Given the description of an element on the screen output the (x, y) to click on. 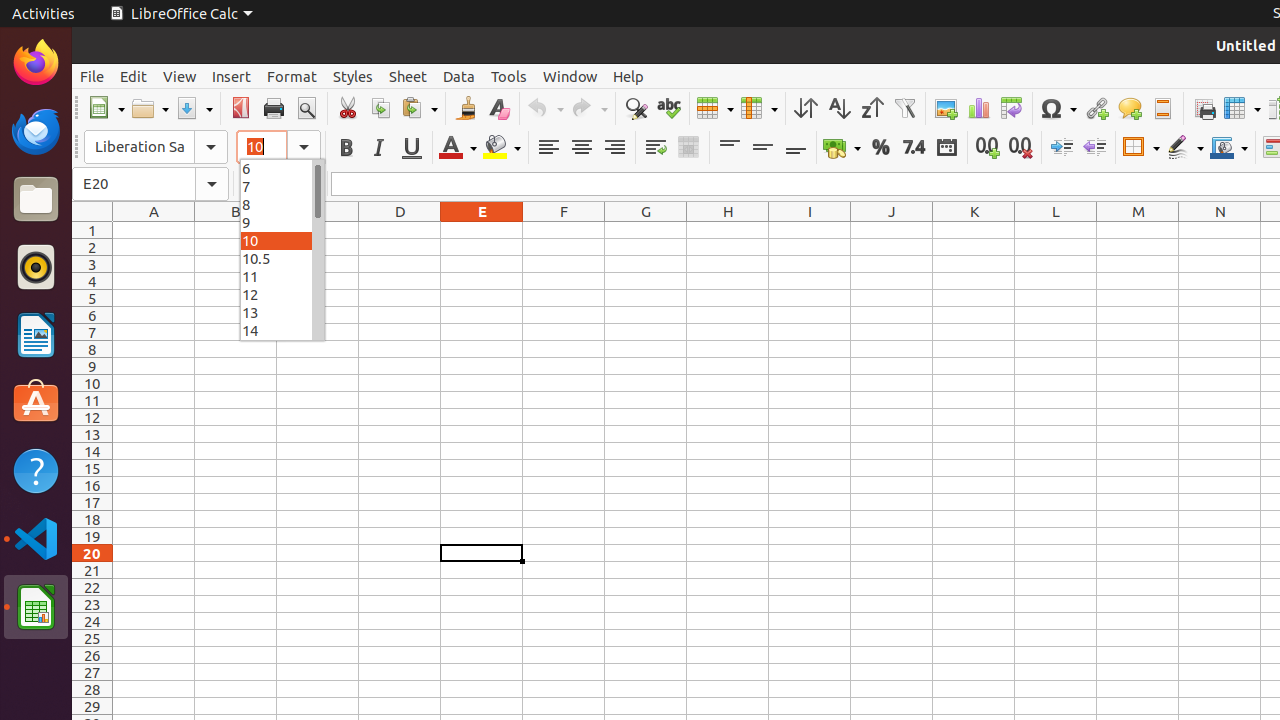
F1 Element type: table-cell (564, 230)
8 Element type: list-item (282, 204)
E1 Element type: table-cell (482, 230)
Headers and Footers Element type: push-button (1162, 108)
Font Color Element type: push-button (458, 147)
